Given the description of an element on the screen output the (x, y) to click on. 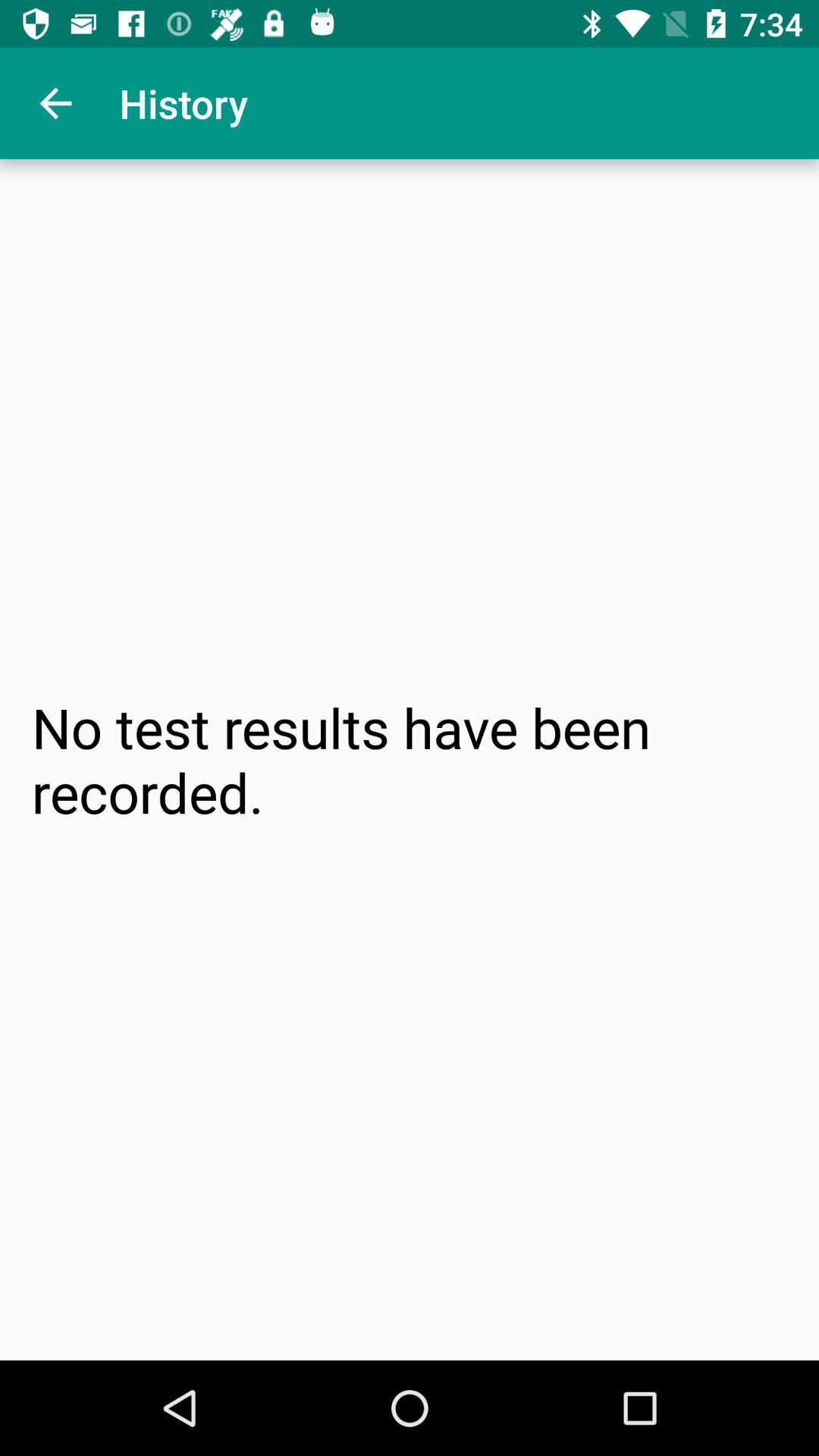
choose item next to the history app (55, 103)
